Given the description of an element on the screen output the (x, y) to click on. 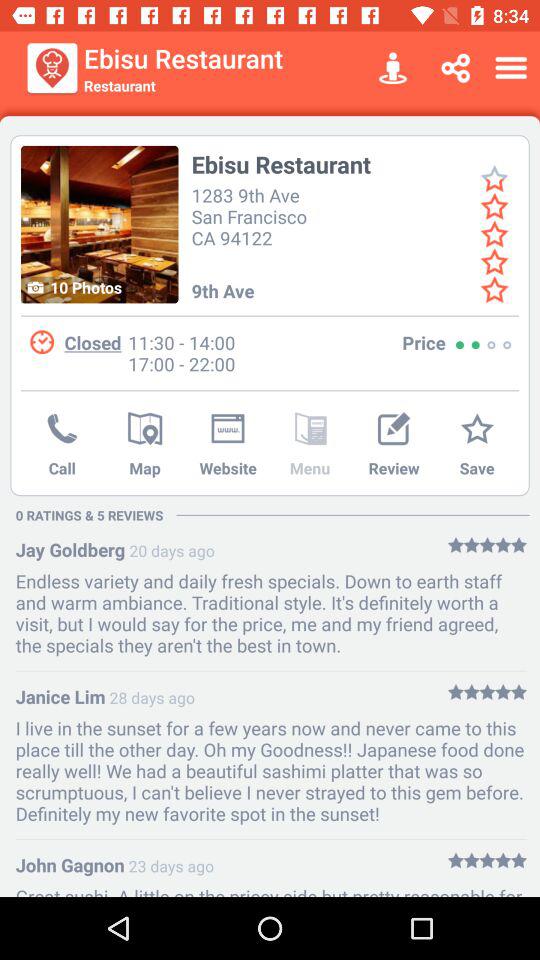
turn on the icon below the ebisu restaurant icon (251, 214)
